Given the description of an element on the screen output the (x, y) to click on. 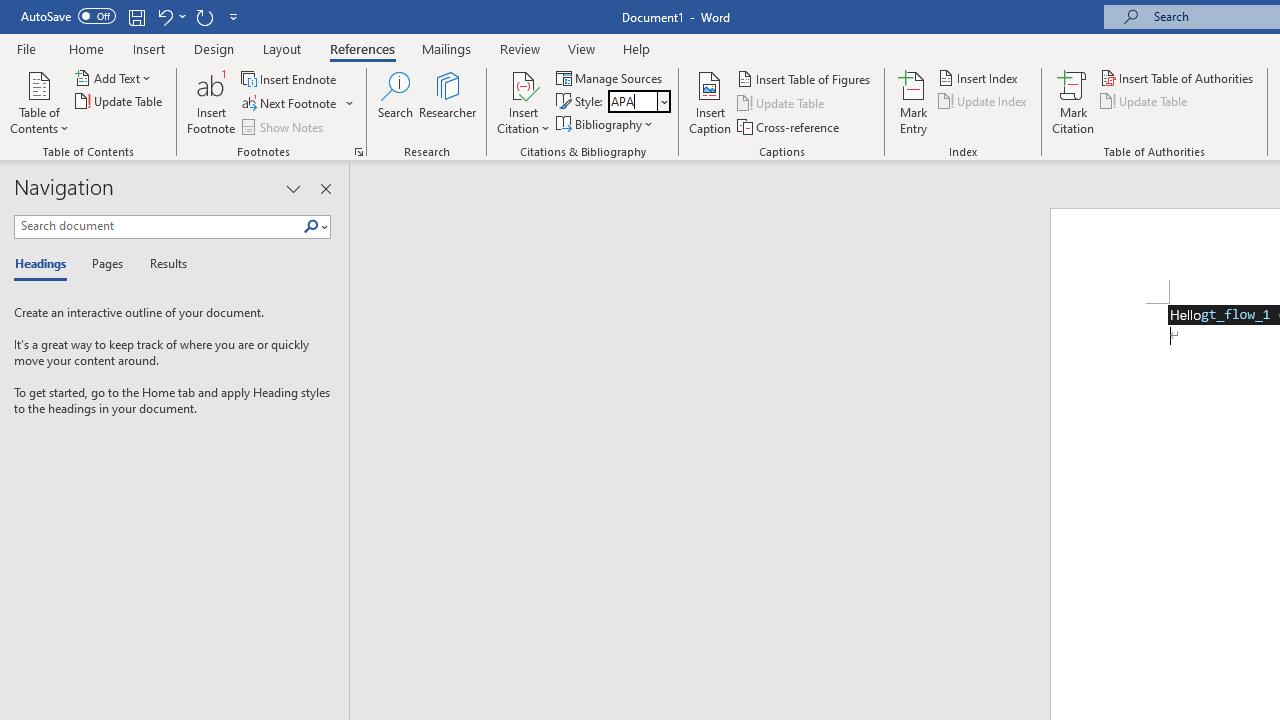
Add Text (114, 78)
System (10, 11)
Results (161, 264)
Open (662, 101)
Close pane (325, 188)
Headings (45, 264)
Update Index (984, 101)
Next Footnote (290, 103)
Search document (157, 226)
Review (520, 48)
Bibliography (606, 124)
Home (86, 48)
Layout (282, 48)
File Tab (26, 48)
Table of Contents (39, 102)
